Given the description of an element on the screen output the (x, y) to click on. 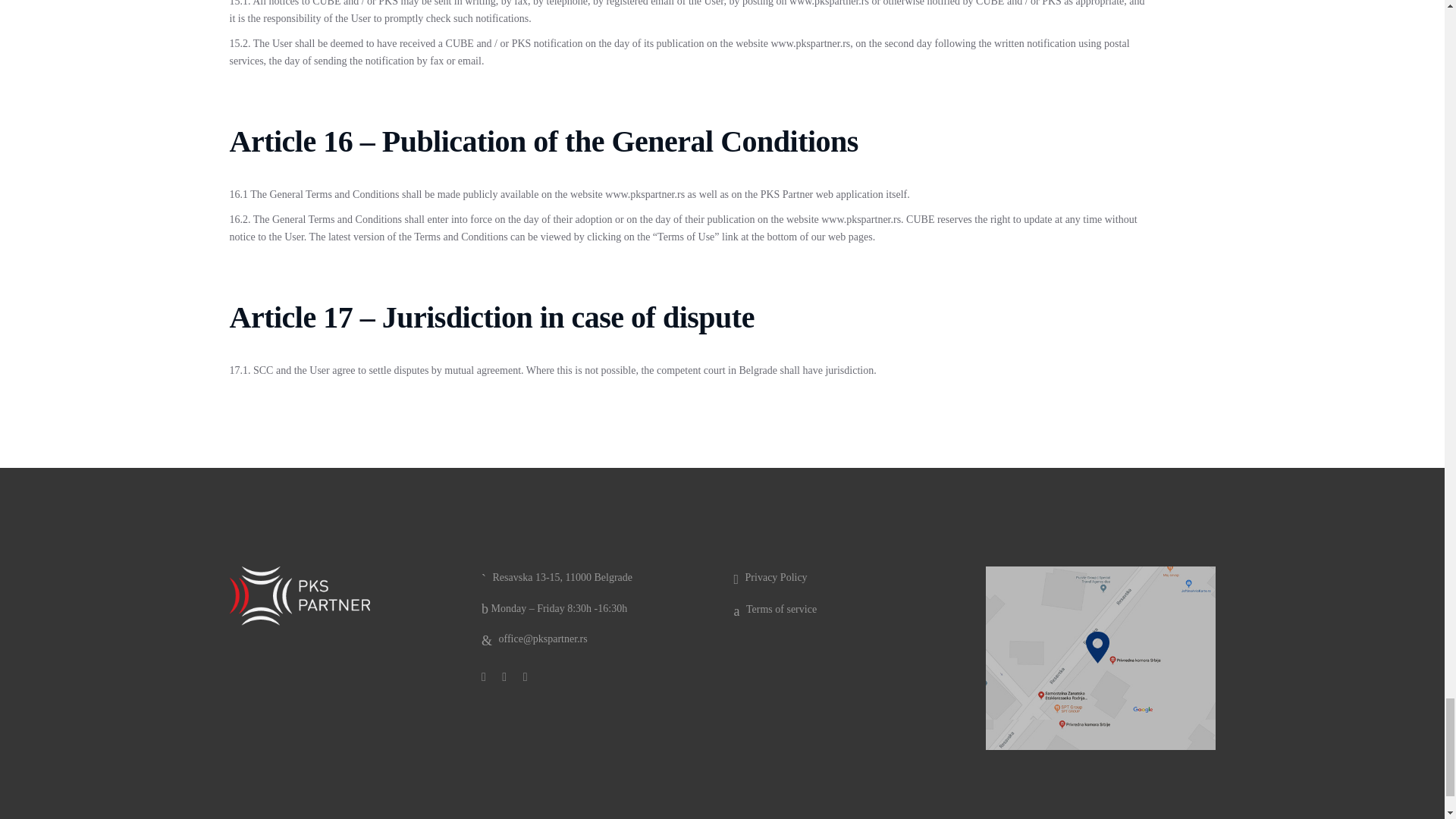
Privacy Policy (770, 577)
Terms of service (774, 609)
Resavska 13-15, 11000 Belgrade (556, 577)
